Given the description of an element on the screen output the (x, y) to click on. 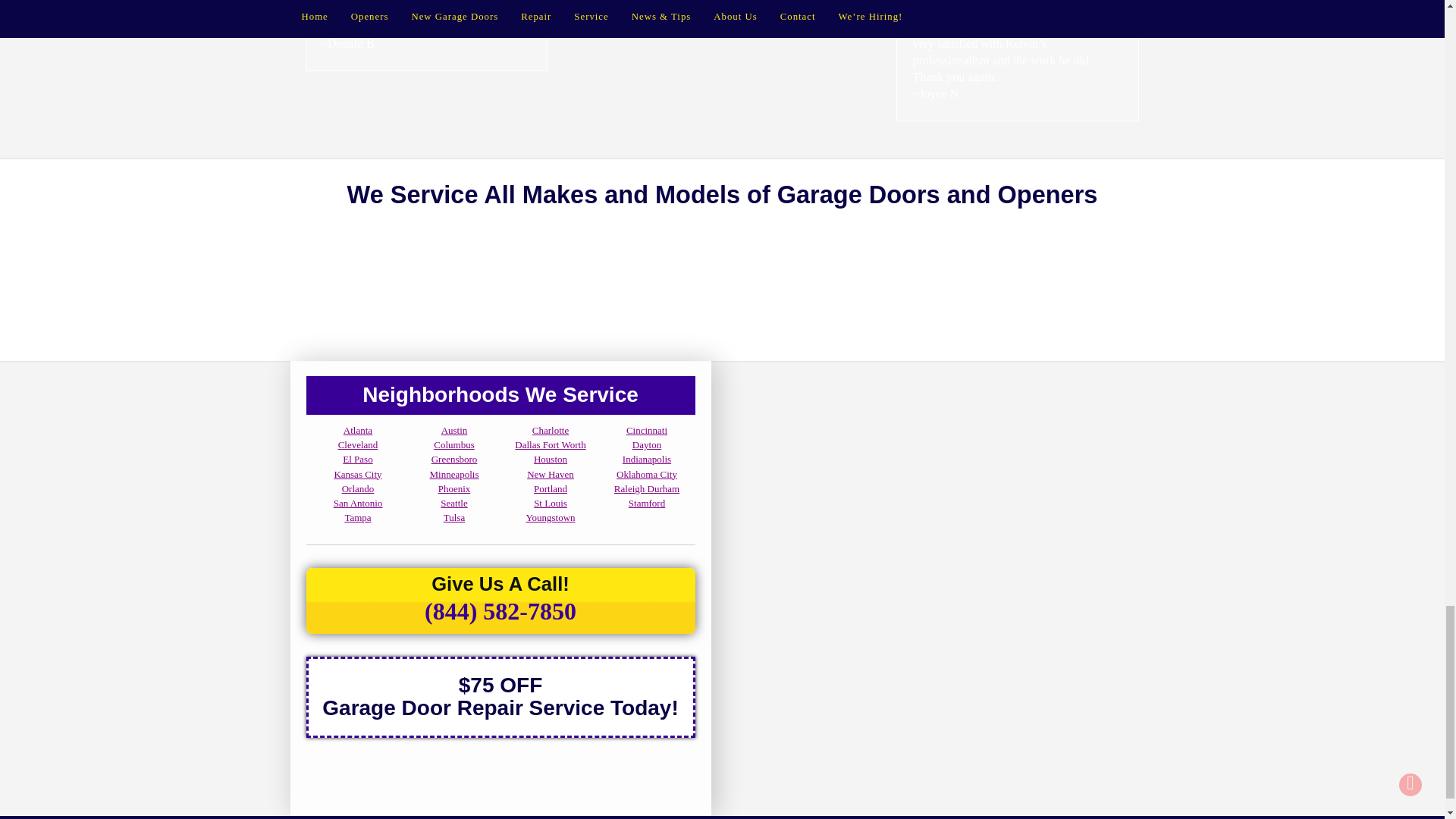
Atlanta (357, 430)
Charlotte (550, 430)
Austin (454, 430)
